Given the description of an element on the screen output the (x, y) to click on. 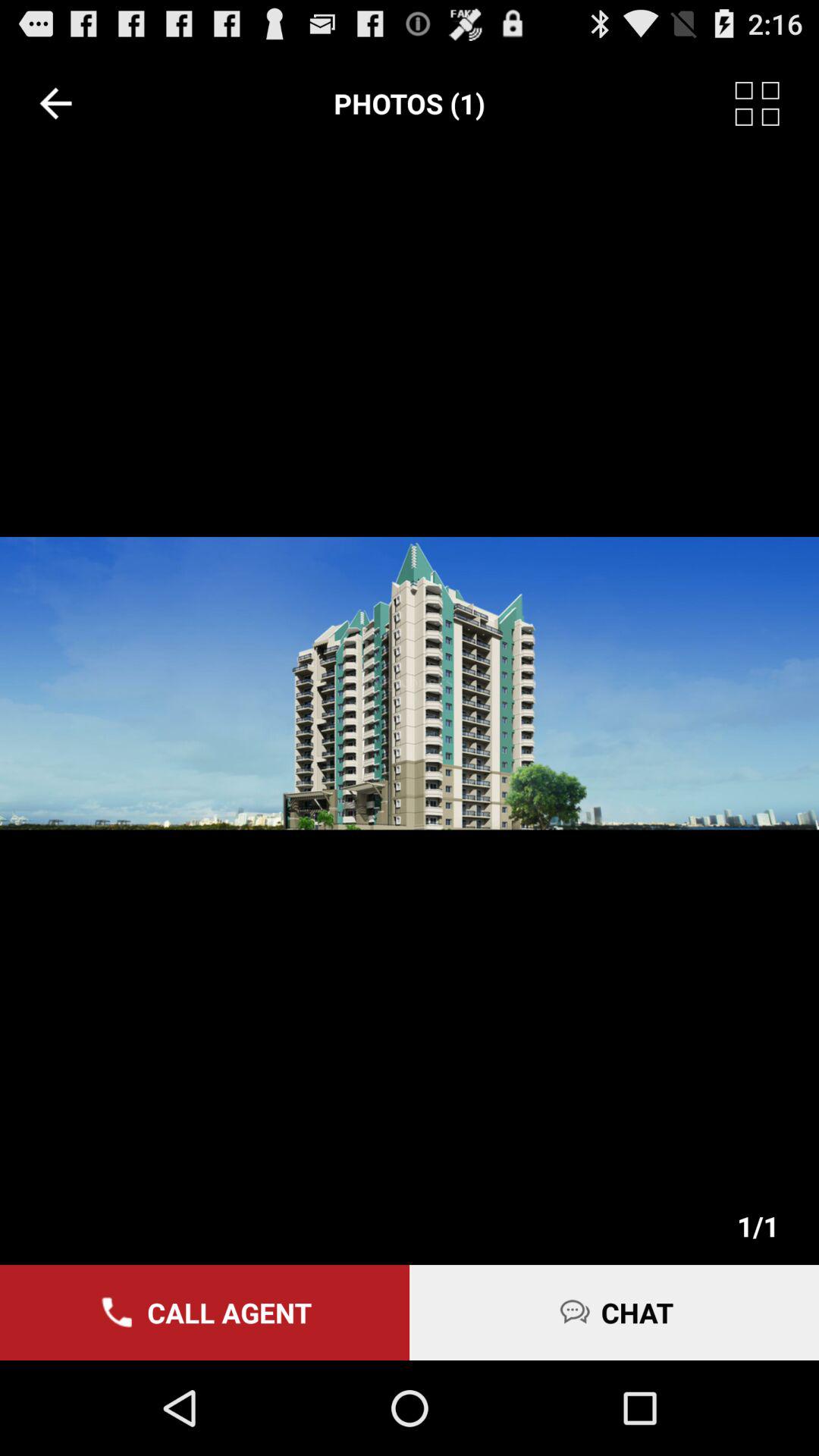
open item to the right of the photos (1) icon (777, 103)
